Given the description of an element on the screen output the (x, y) to click on. 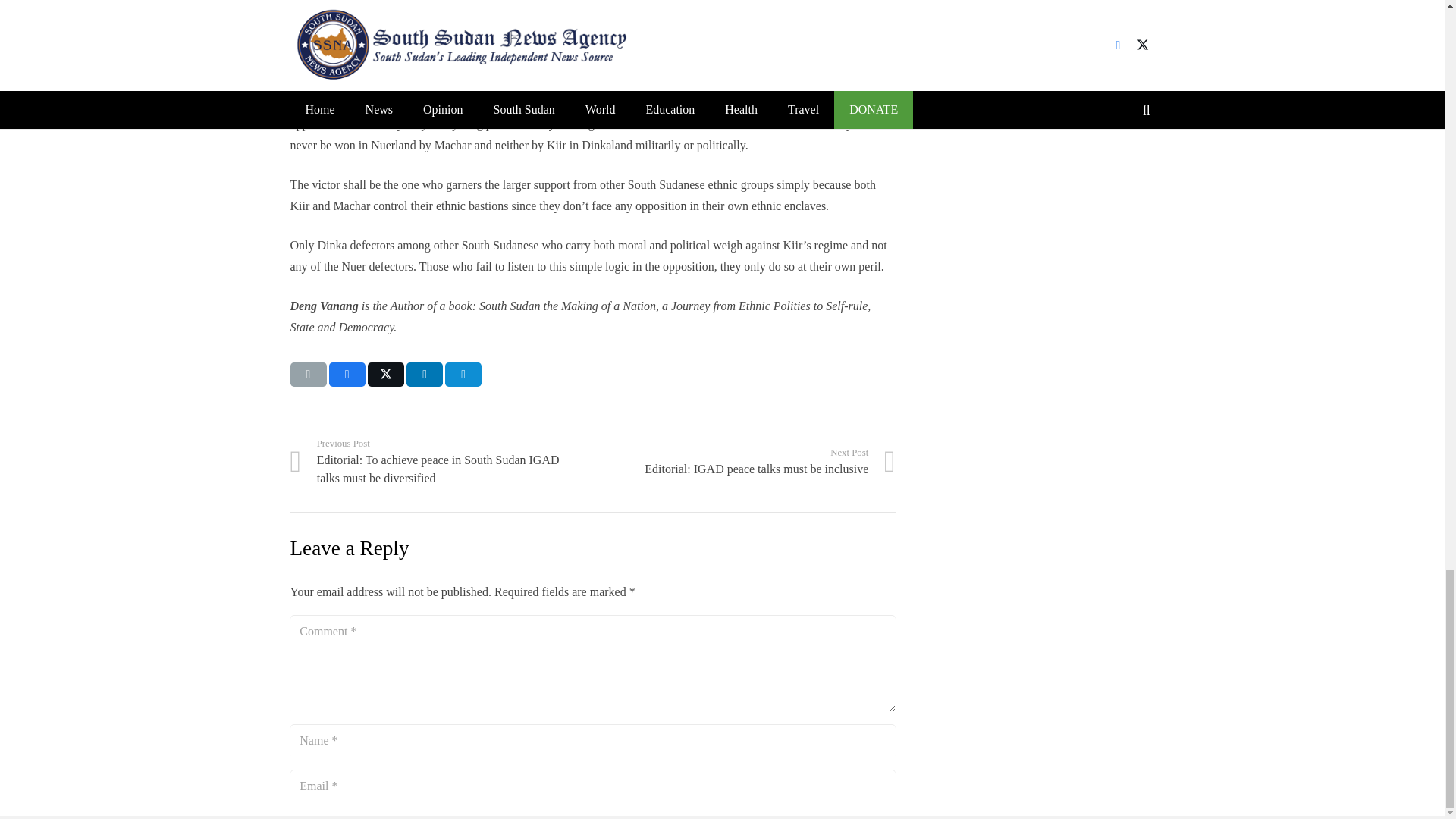
Share this (347, 374)
Share this (463, 374)
Tweet this (386, 374)
Email this (307, 374)
Share this (424, 374)
Editorial: IGAD peace talks must be inclusive (743, 461)
